Given the description of an element on the screen output the (x, y) to click on. 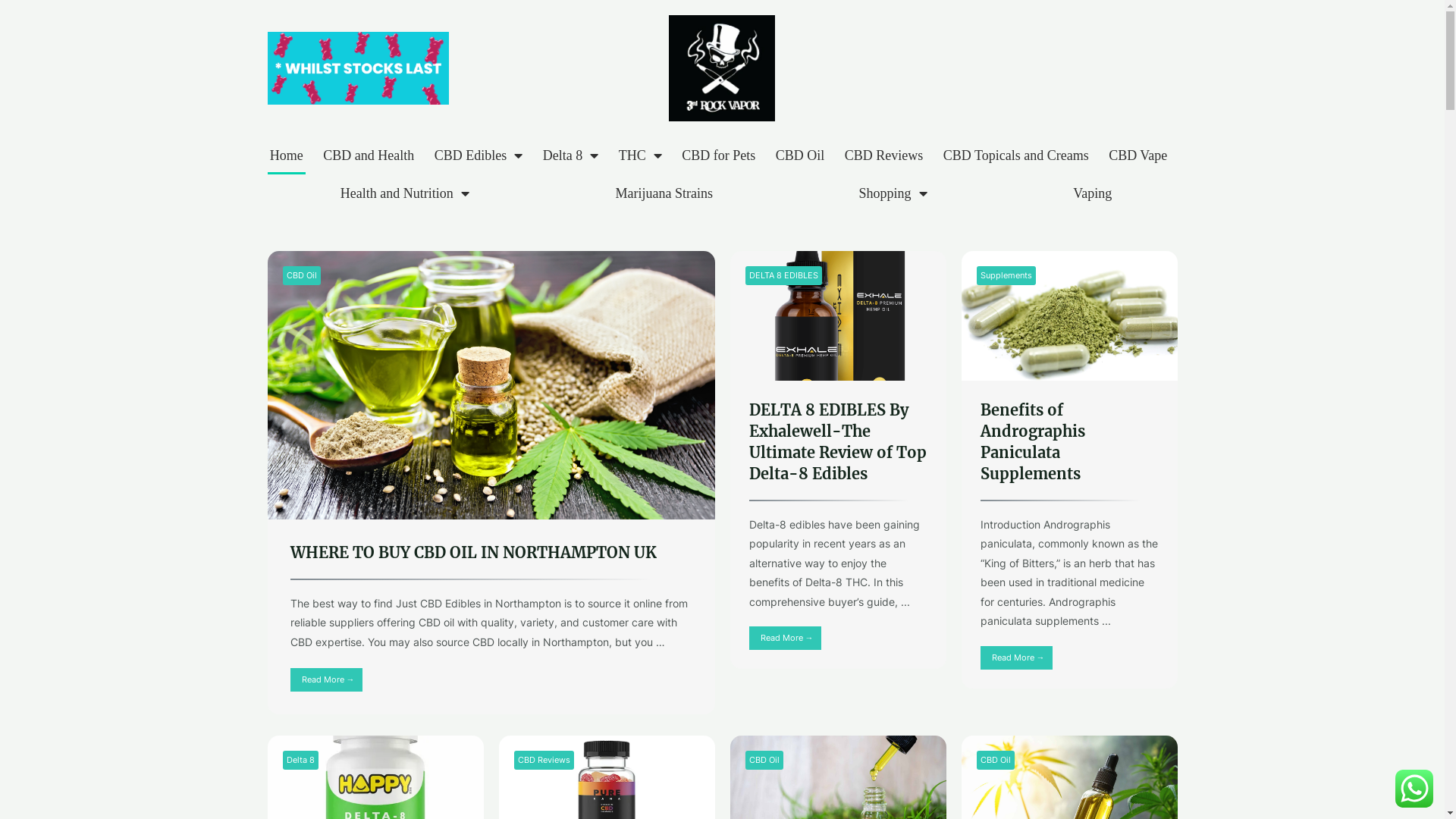
Vaping Element type: text (1092, 193)
THC Element type: text (639, 155)
Home Element type: text (285, 155)
CBD for Pets Element type: text (718, 155)
Shopping Element type: text (892, 193)
Health and Nutrition Element type: text (404, 193)
CBD and Health Element type: text (368, 155)
CBD Topicals and Creams Element type: text (1016, 155)
Benefits of Andrographis Paniculata Supplements Element type: text (1031, 441)
CBD Vape Element type: text (1138, 155)
Marijuana Strains Element type: text (663, 193)
Delta 8 Element type: text (569, 155)
WHERE TO BUY CBD OIL IN NORTHAMPTON UK Element type: text (472, 551)
CBD Reviews Element type: text (883, 155)
CBD Oil Element type: text (800, 155)
CBD Edibles Element type: text (477, 155)
